Given the description of an element on the screen output the (x, y) to click on. 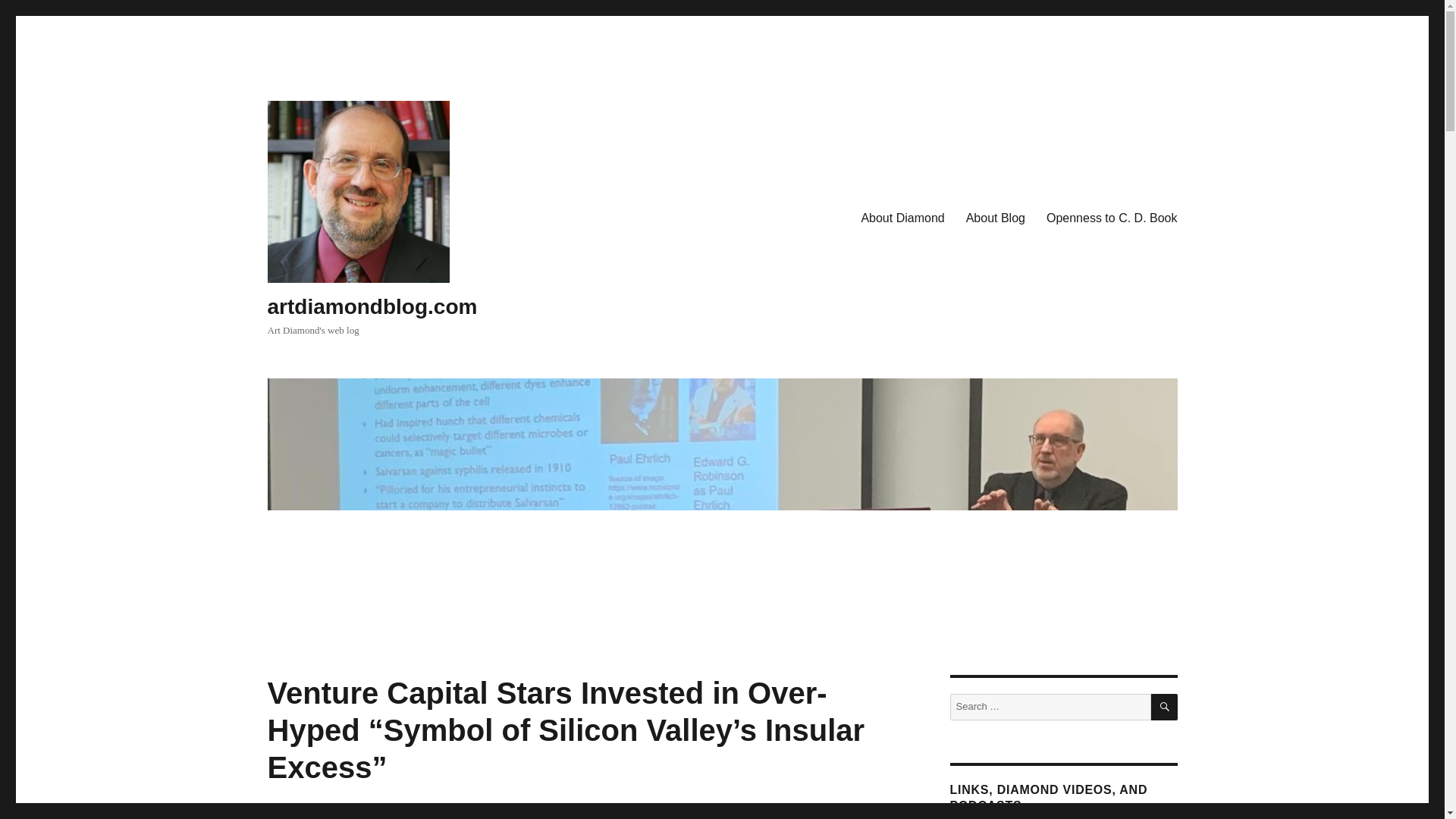
Openness to C. D. Book (1111, 218)
artdiamondblog.com (371, 306)
About Diamond (902, 218)
SEARCH (1164, 706)
About Blog (995, 218)
